Given the description of an element on the screen output the (x, y) to click on. 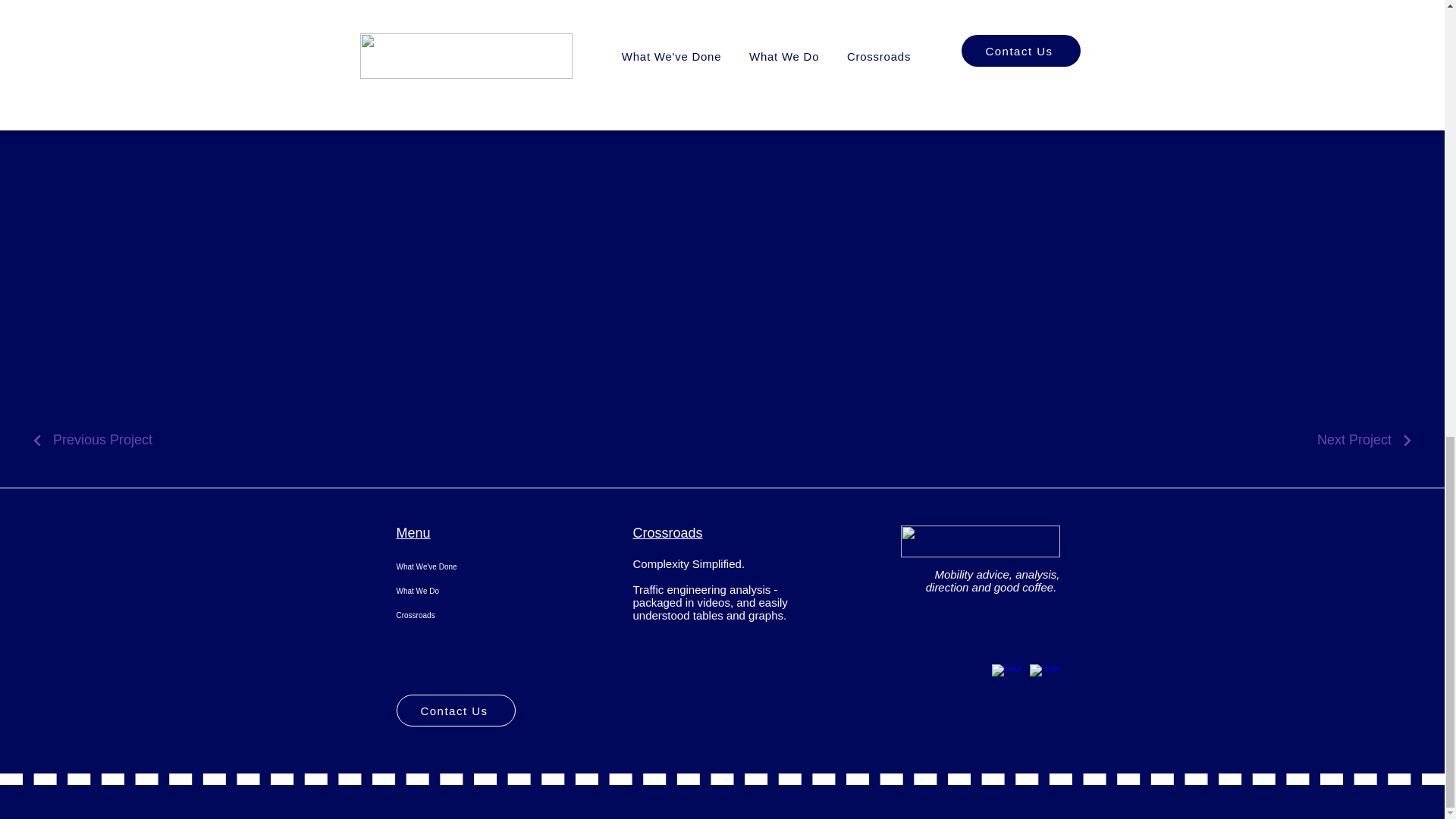
Previous Project (91, 440)
Crossroads (666, 532)
Crossroads (475, 615)
Contact Us (455, 710)
What We Do (475, 591)
What We've Done (475, 567)
Next Project (1365, 440)
Complexity Simplified. (687, 563)
